Given the description of an element on the screen output the (x, y) to click on. 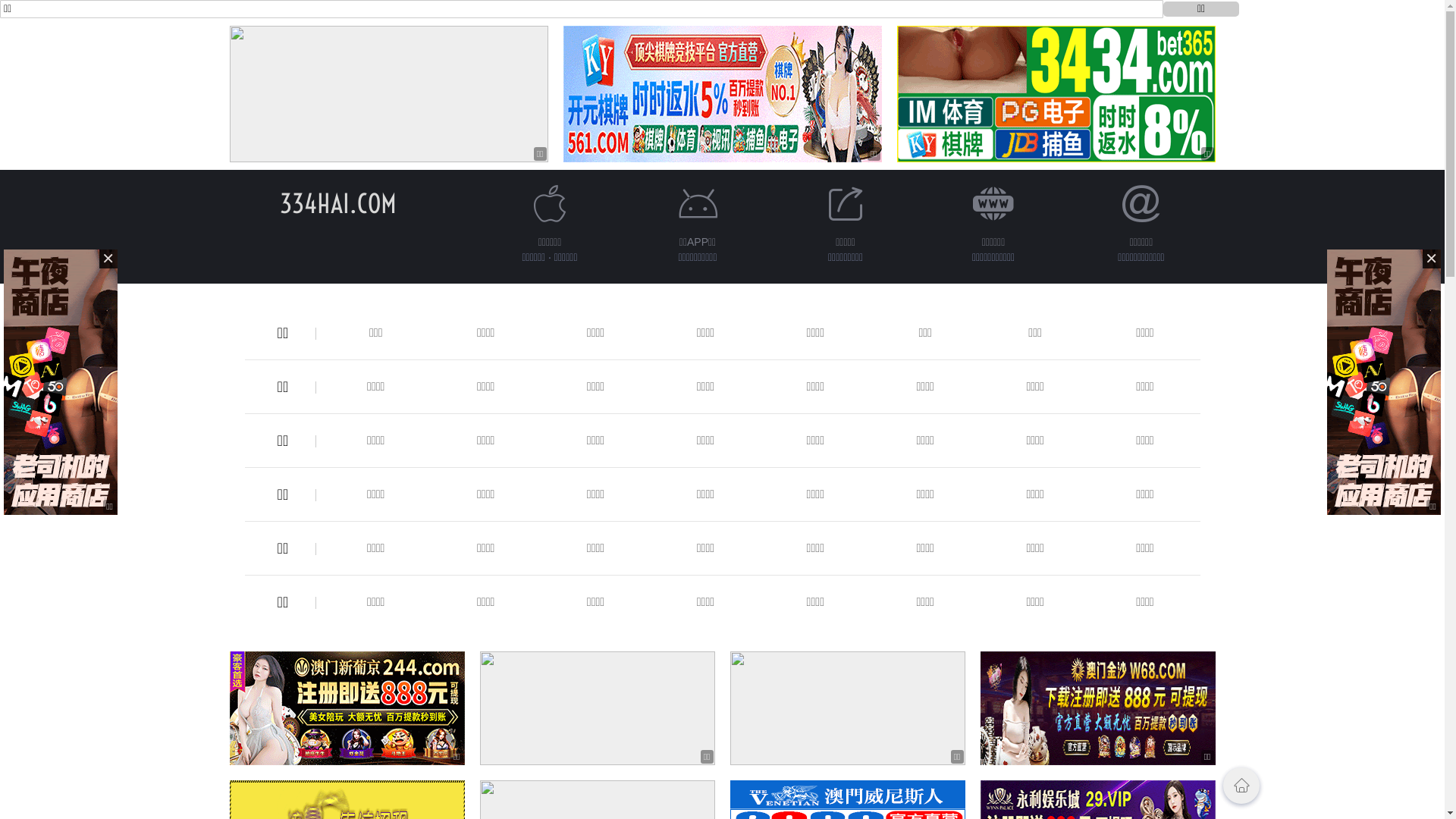
334HAI.COM Element type: text (337, 203)
